Given the description of an element on the screen output the (x, y) to click on. 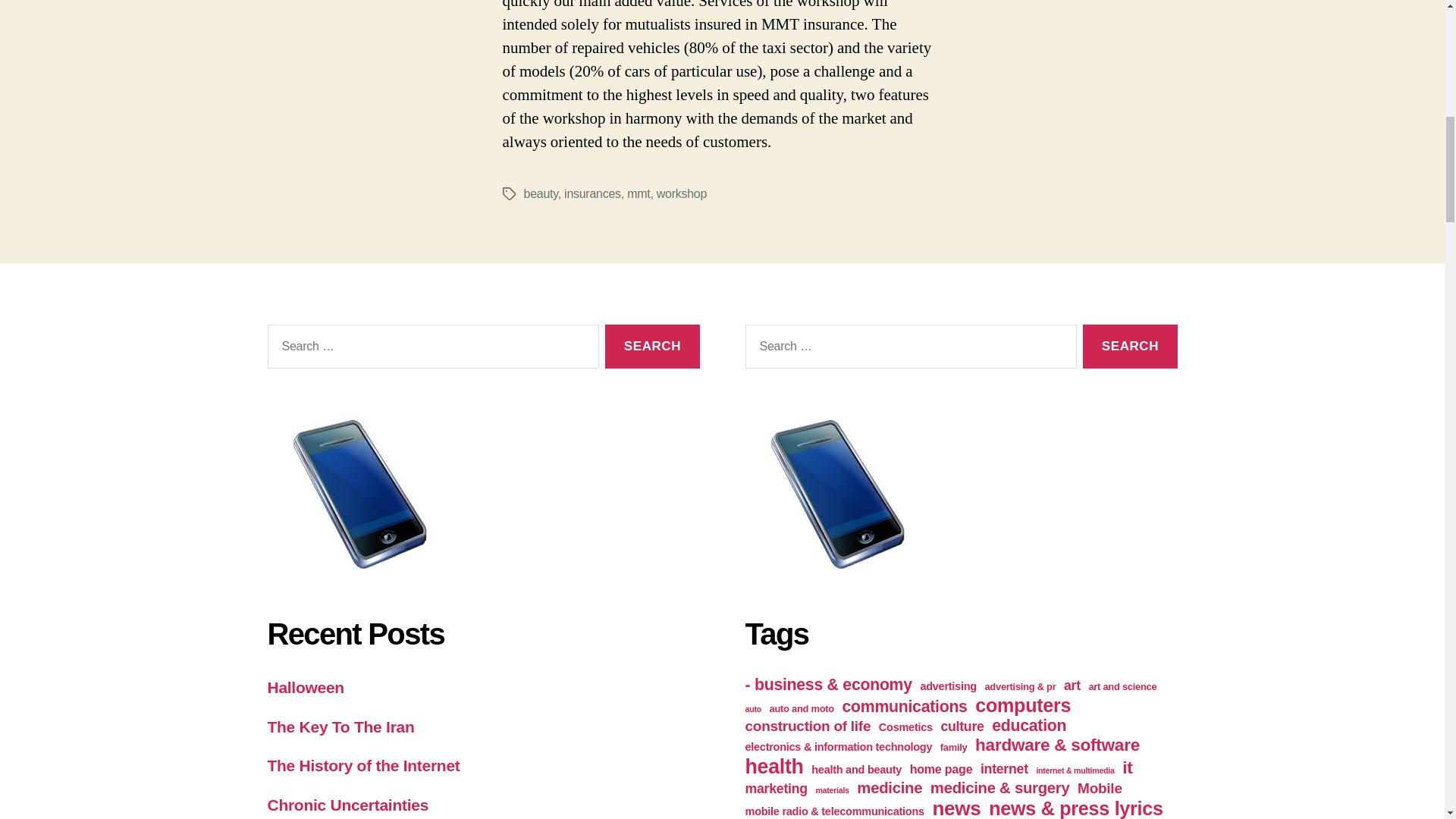
Chronic Uncertainties (347, 805)
Search (1129, 346)
The History of the Internet (363, 764)
mmt (638, 193)
insurances (592, 193)
Search (651, 346)
Halloween (304, 687)
Search (1129, 346)
Search (651, 346)
workshop (681, 193)
beauty (539, 193)
Search (651, 346)
The Key To The Iran (339, 726)
